Given the description of an element on the screen output the (x, y) to click on. 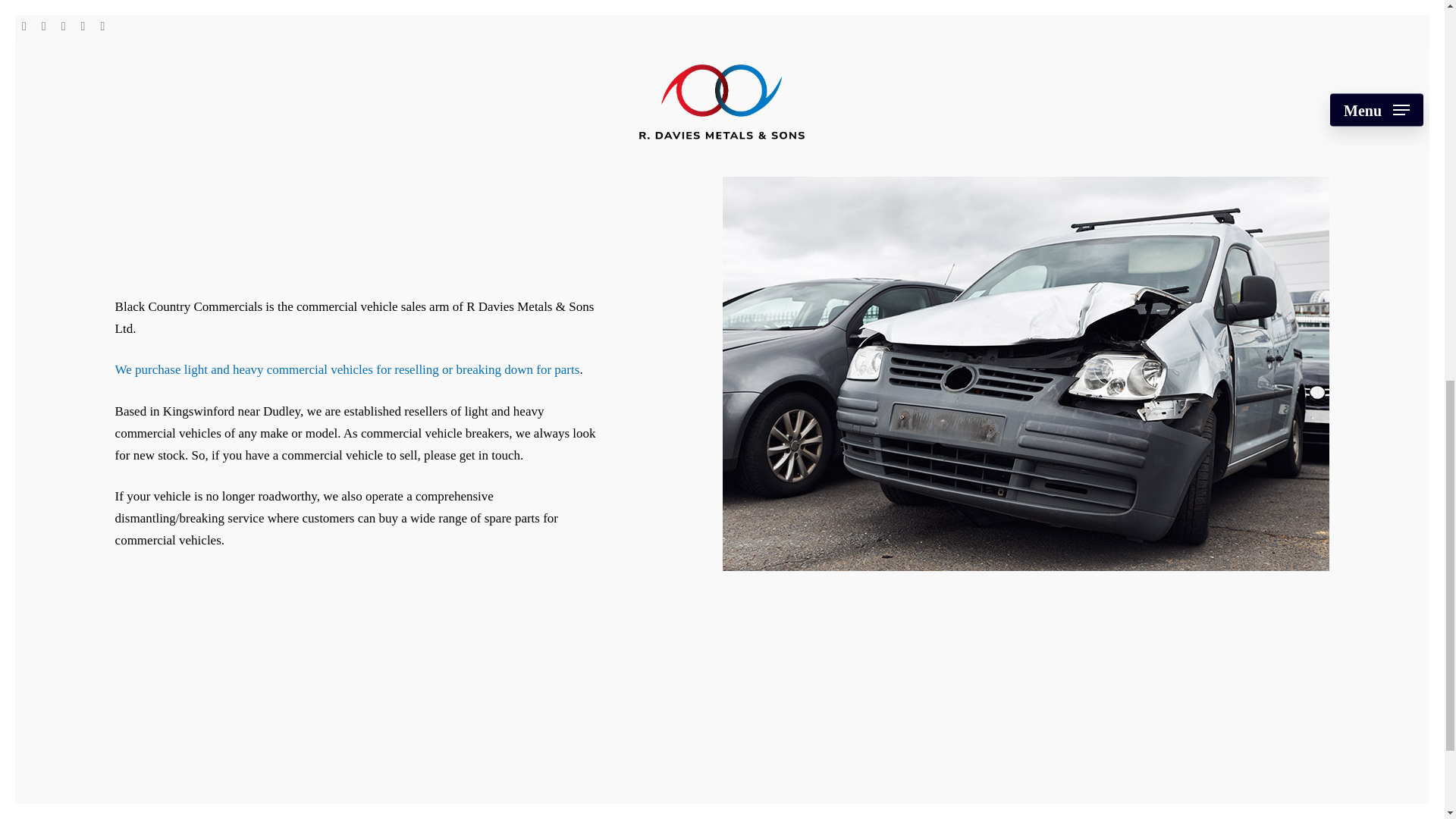
facebook (669, 817)
phone (722, 817)
email (775, 817)
